Given the description of an element on the screen output the (x, y) to click on. 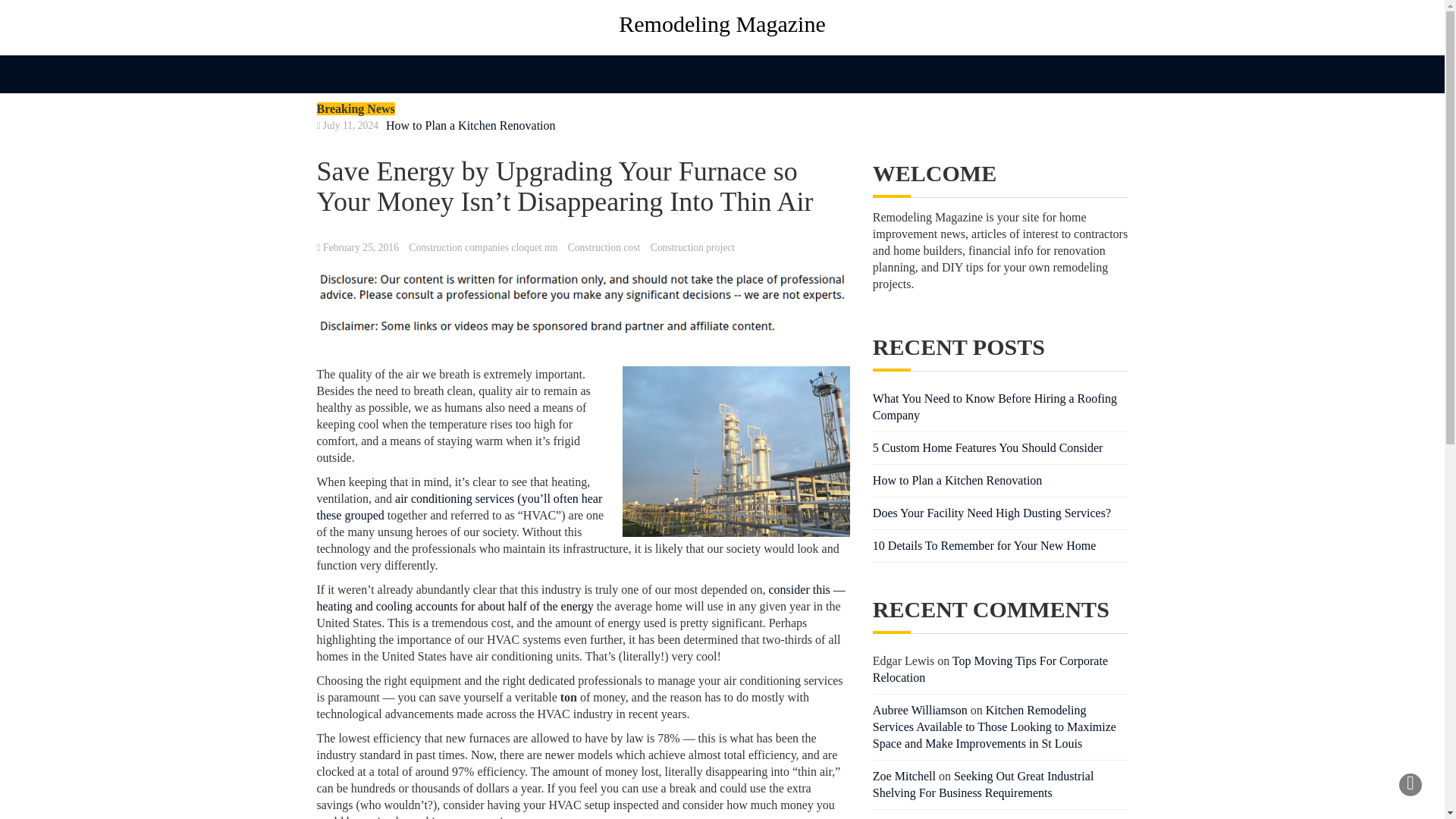
Zoe Mitchell (904, 775)
5 Custom Home Features You Should Consider (987, 447)
Aubree Williamson (920, 709)
Construction companies cloquet mn (483, 247)
Remodeling Magazine (722, 23)
Does Your Facility Need High Dusting Services? (991, 512)
Construction project (692, 247)
Top Moving Tips For Corporate Relocation (990, 668)
How to Plan a Kitchen Renovation (957, 480)
Construction cost (603, 247)
February 25, 2016 (360, 247)
What You Need to Know Before Hiring a Roofing Company (994, 406)
10 Details To Remember for Your New Home (984, 545)
Commercial boilers, Hvac contractor (459, 506)
